Given the description of an element on the screen output the (x, y) to click on. 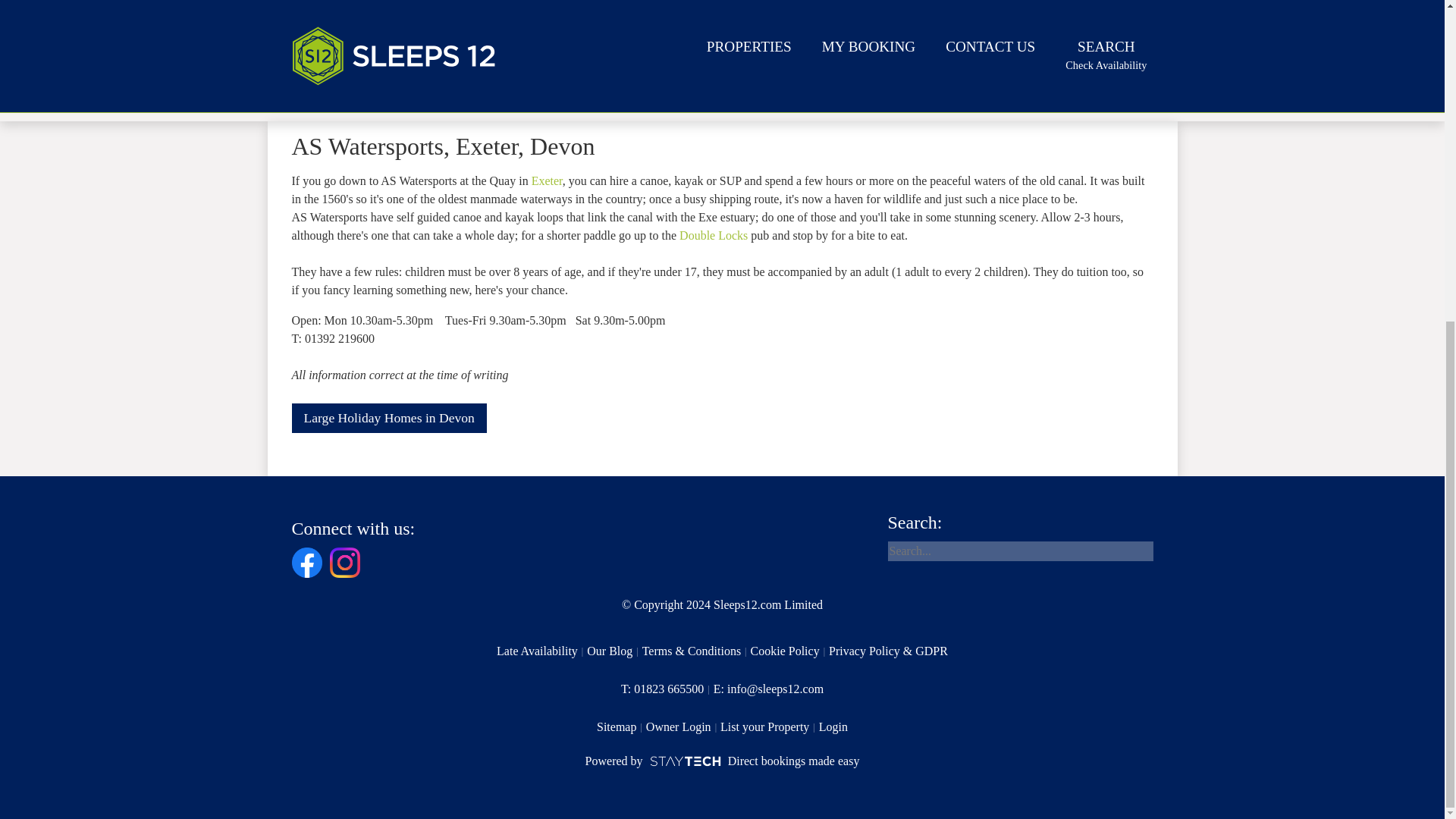
T: 01823 665500 (722, 761)
Our Blog (667, 688)
Owner Login (614, 651)
Login (683, 727)
Exeter (832, 727)
Late Availability (546, 180)
Sitemap (541, 651)
Double Locks (621, 727)
Large Holiday Homes in Devon (713, 235)
Cookie Policy (388, 418)
List your Property (790, 651)
StayTech: Holiday Property Website Design (769, 727)
